Given the description of an element on the screen output the (x, y) to click on. 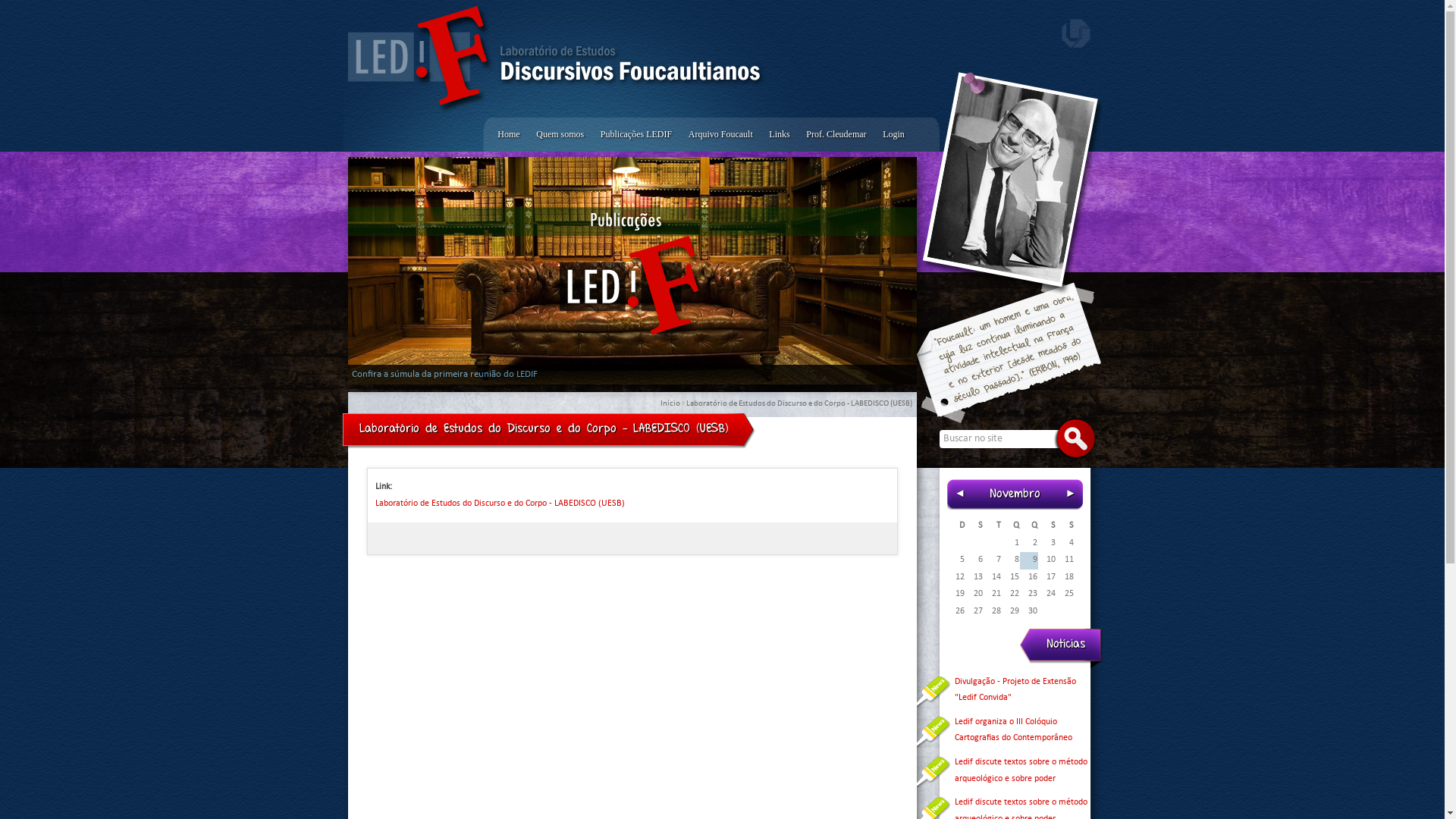
Arquivo Foucault Element type: text (720, 134)
Links Element type: text (779, 134)
Login Element type: text (893, 134)
Prof. Cleudemar Element type: text (835, 134)
Home Element type: text (508, 134)
  Element type: text (1075, 33)
Quem somos Element type: text (559, 134)
Novembro Element type: text (1014, 494)
